Given the description of an element on the screen output the (x, y) to click on. 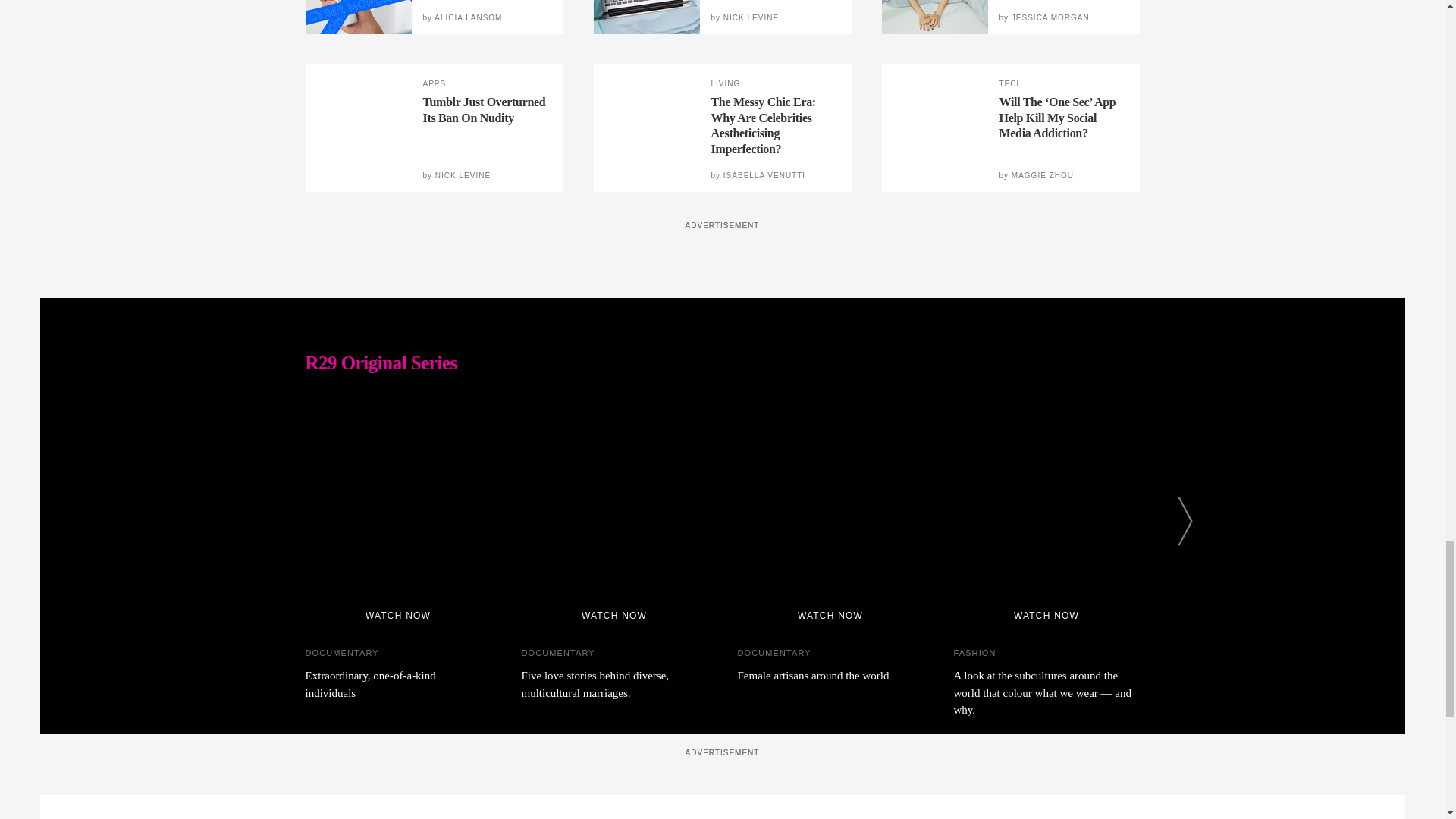
Next (1184, 521)
